Given the description of an element on the screen output the (x, y) to click on. 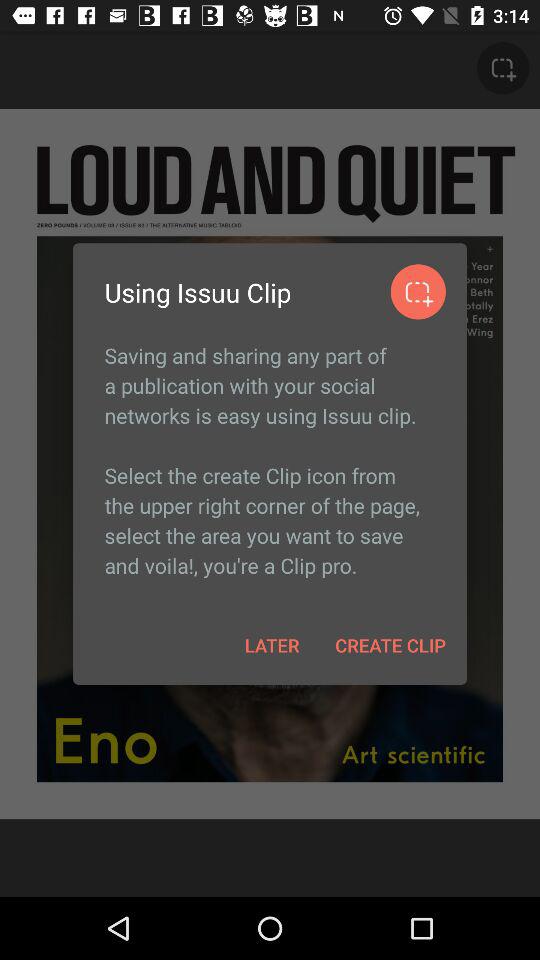
scroll to saving and sharing icon (269, 460)
